Given the description of an element on the screen output the (x, y) to click on. 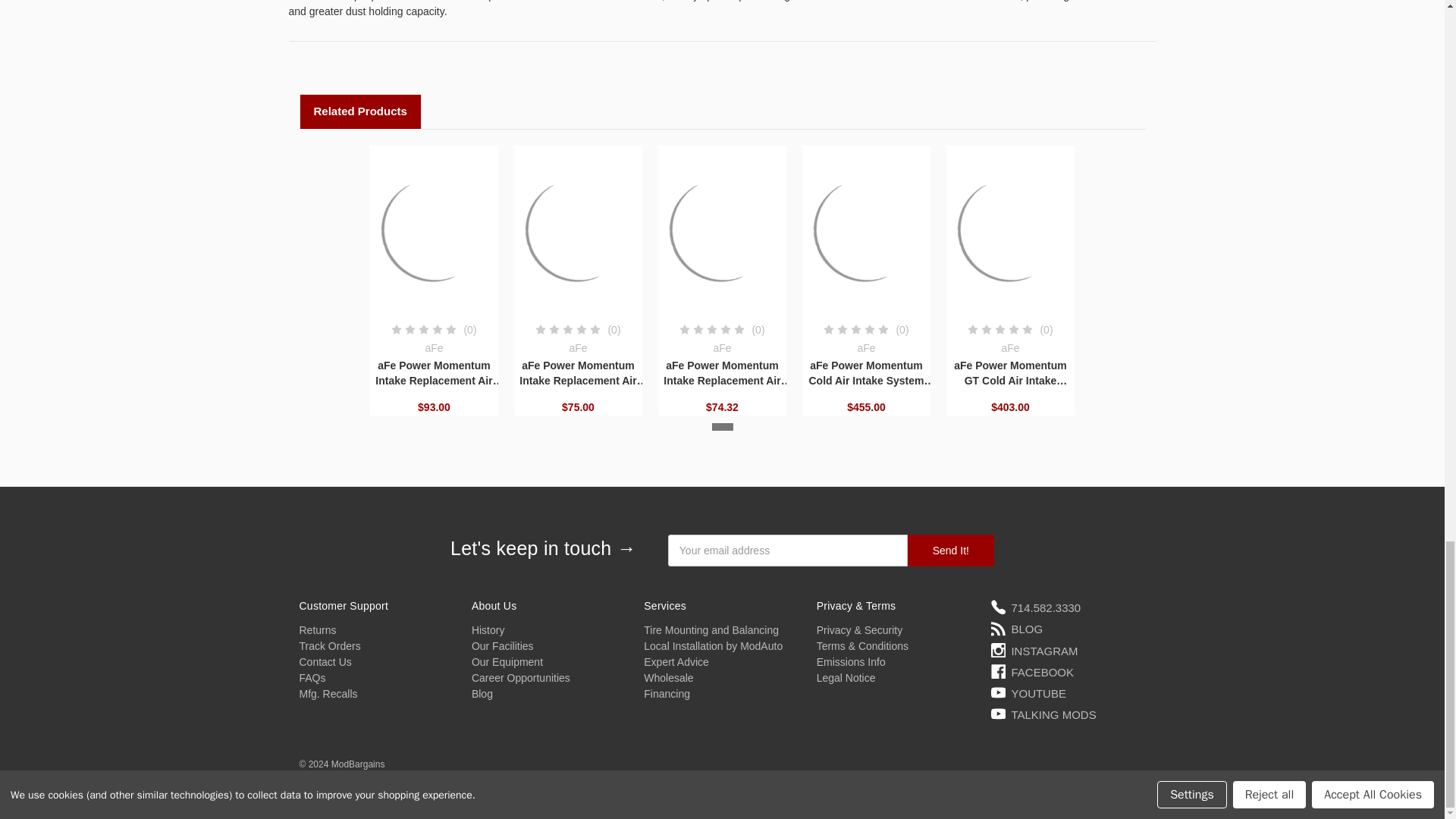
Send It! (950, 550)
